Given the description of an element on the screen output the (x, y) to click on. 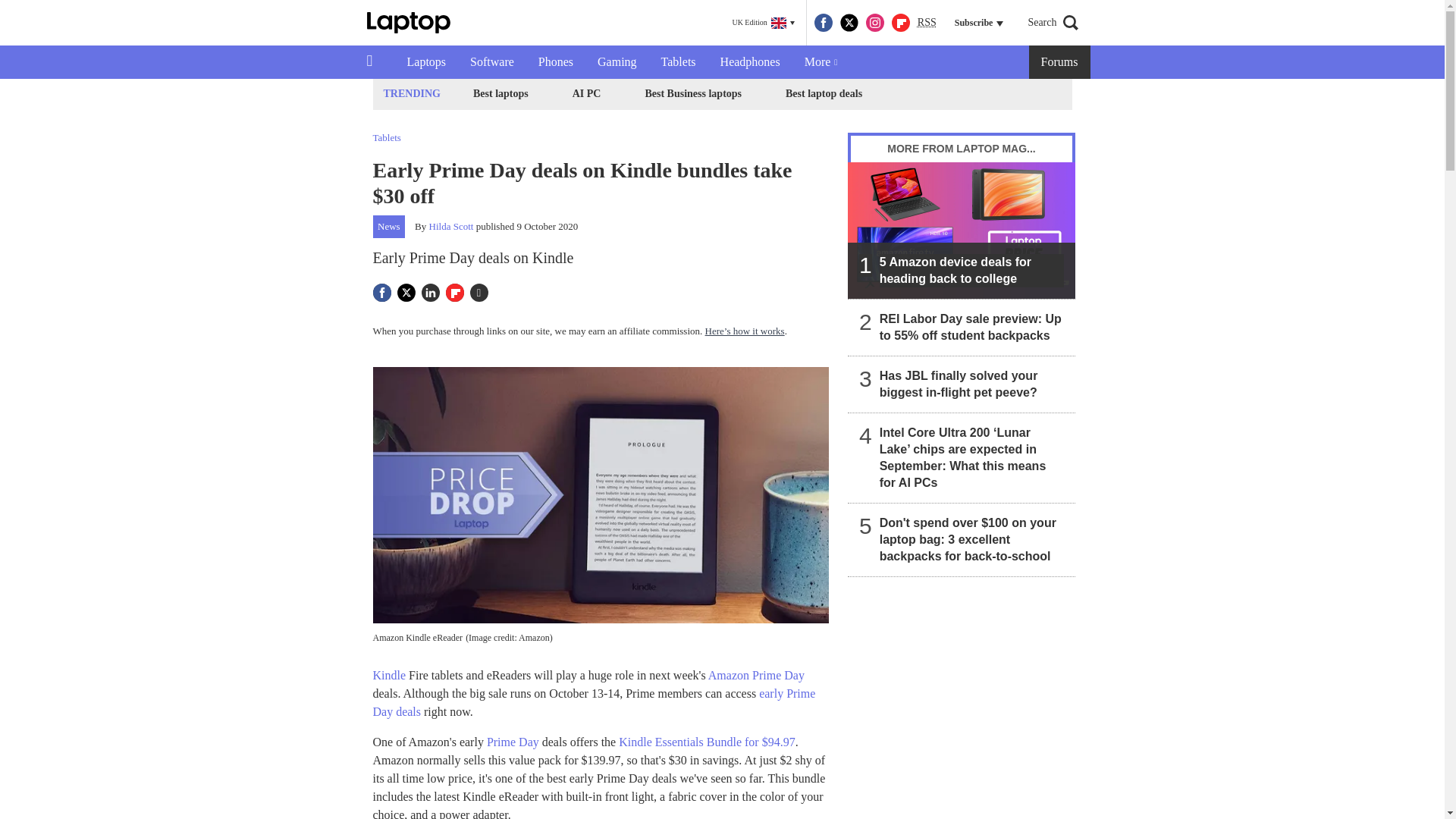
Best Business laptops (692, 93)
UK Edition (762, 22)
5 Amazon device deals for heading back to college (961, 230)
Tablets (678, 61)
RSS (926, 22)
AI PC (587, 93)
Forums (1059, 61)
Best laptops (500, 93)
Laptops (426, 61)
Phones (555, 61)
